Given the description of an element on the screen output the (x, y) to click on. 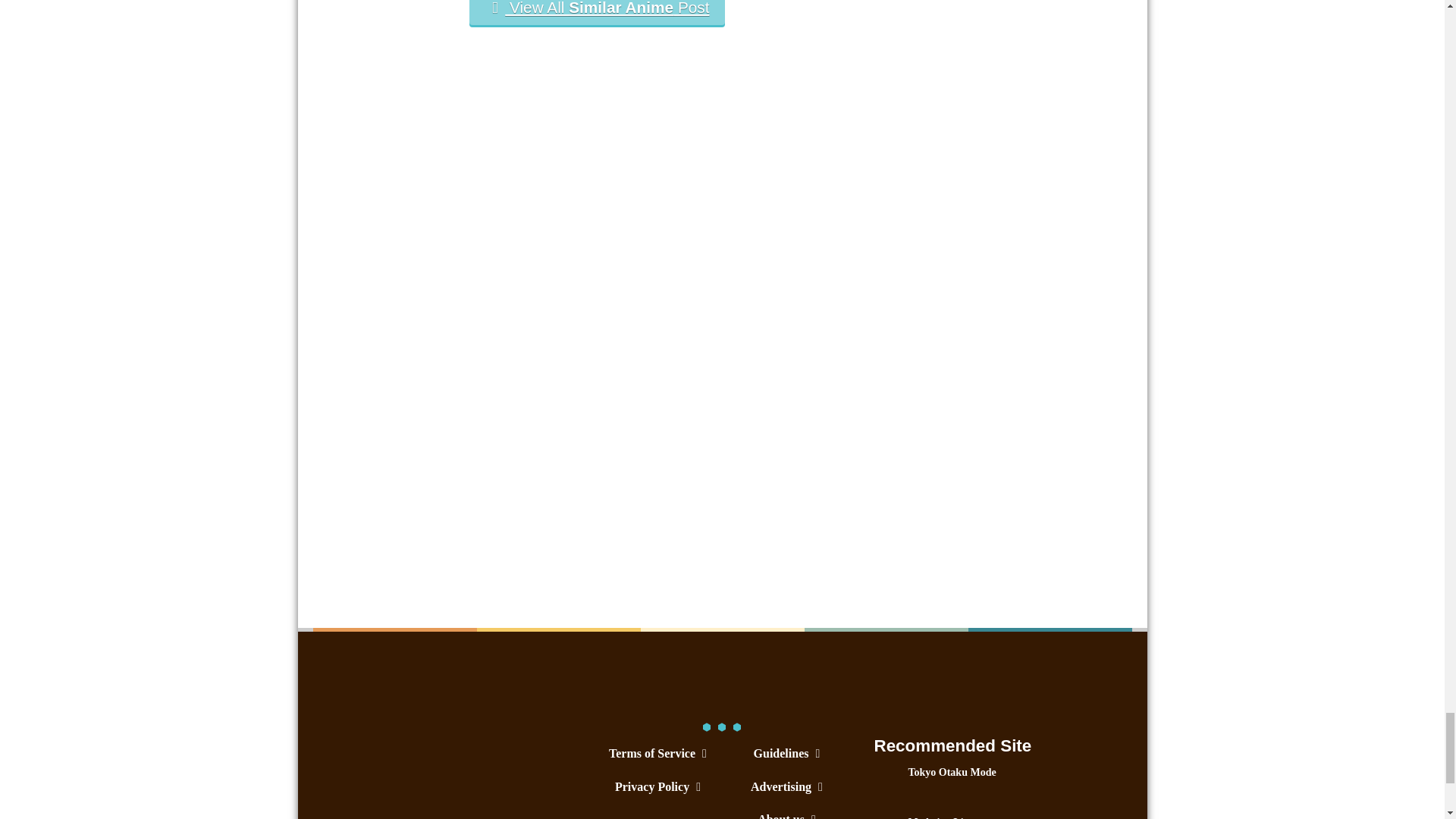
View All Similar Anime Post (595, 12)
Terms of Service Agreement (657, 753)
Advertising (786, 786)
Privacy Policy (657, 786)
Guidelines (786, 753)
